Given the description of an element on the screen output the (x, y) to click on. 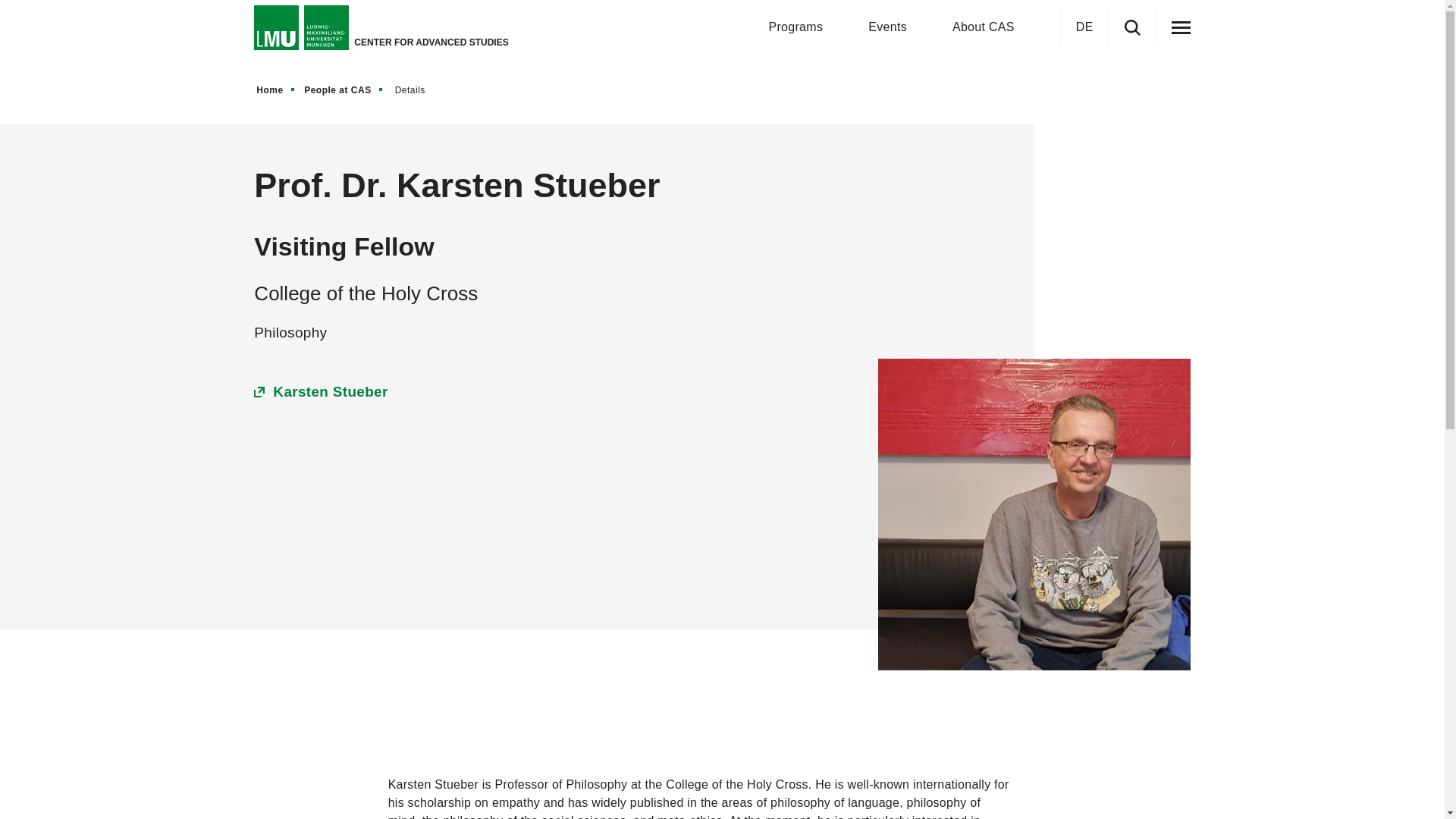
Home (276, 90)
Home People at CAS You are here:Details (346, 90)
Home (275, 90)
People at CAS (344, 90)
People at CAS (344, 90)
About CAS (983, 26)
People at CAS (344, 90)
Home (276, 90)
Home People at CAS You are here:Details (721, 89)
DE (1084, 26)
Programs (795, 26)
You are here:Details (415, 90)
You are here:Details (414, 90)
People at CAS (344, 90)
Home (276, 90)
